Given the description of an element on the screen output the (x, y) to click on. 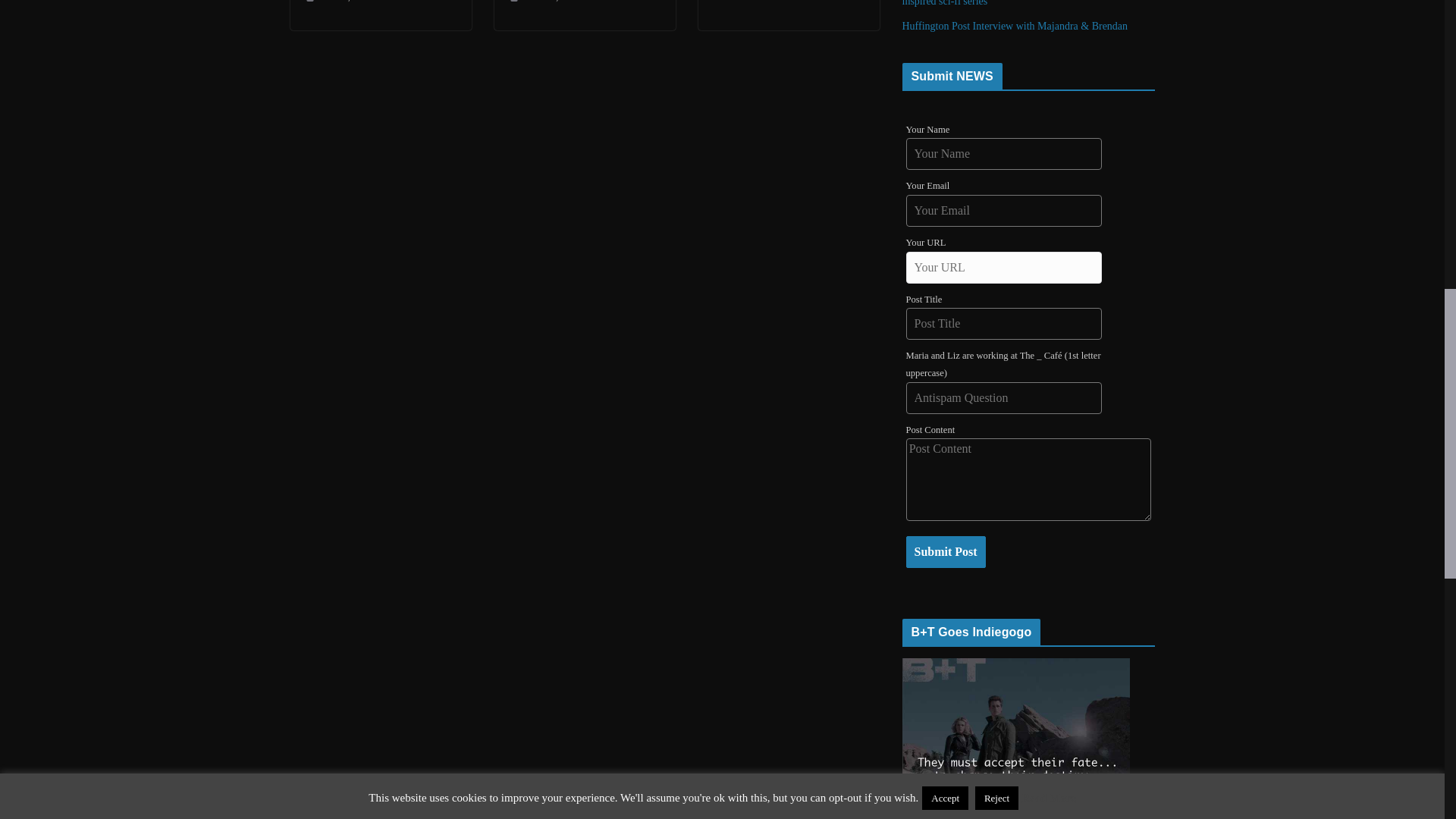
March 9, 2000 (336, 2)
12:59 pm (544, 2)
11:58 am (336, 2)
March 11, 2000 (544, 2)
Submit Post (945, 552)
